Given the description of an element on the screen output the (x, y) to click on. 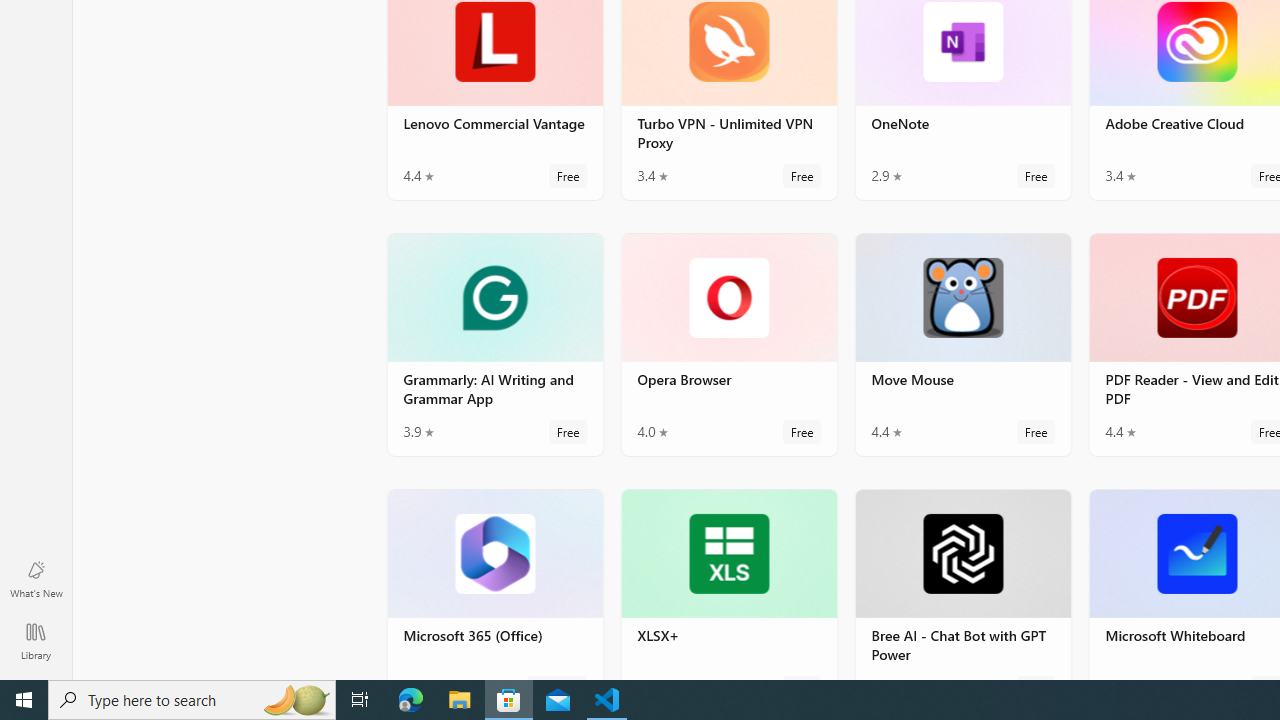
XLSX+. Average rating of 4.6 out of five stars. Free   (728, 583)
